Given the description of an element on the screen output the (x, y) to click on. 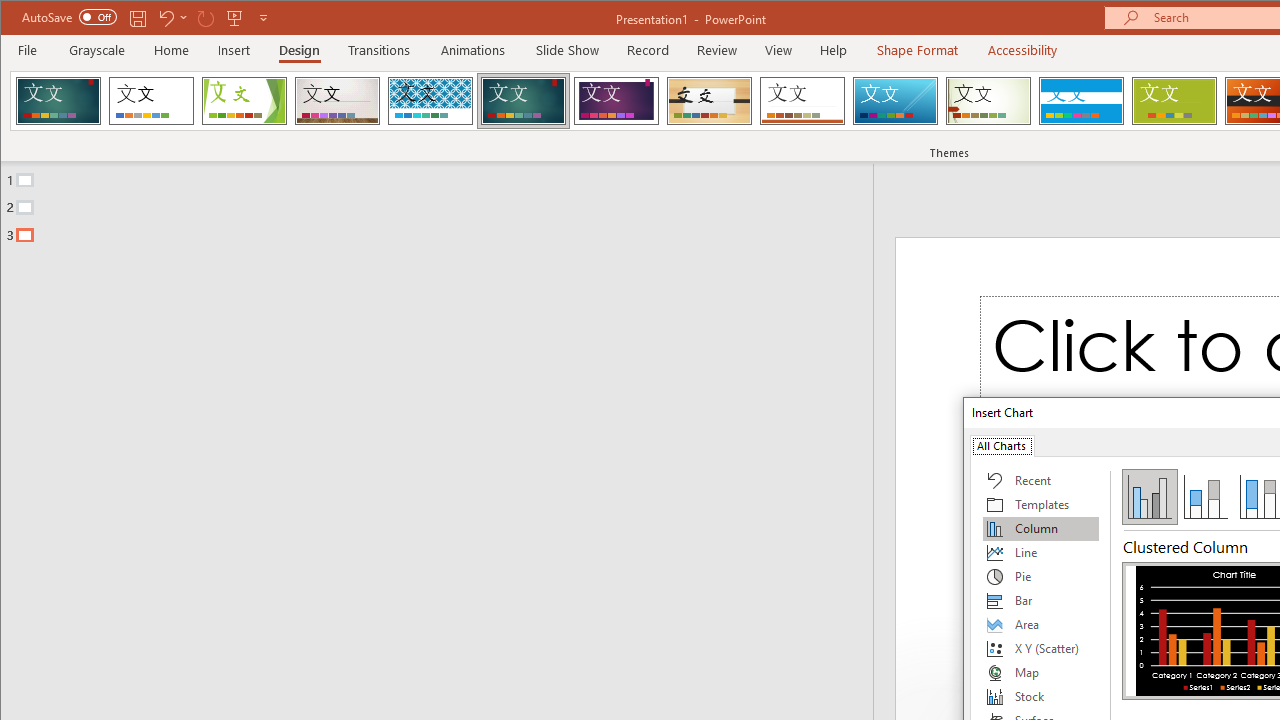
Stacked Column (1205, 496)
Ion (523, 100)
Bar (1041, 600)
Clustered Column (1149, 496)
Outline (445, 203)
Stock (1041, 696)
Basis (1174, 100)
Wisp (988, 100)
